Given the description of an element on the screen output the (x, y) to click on. 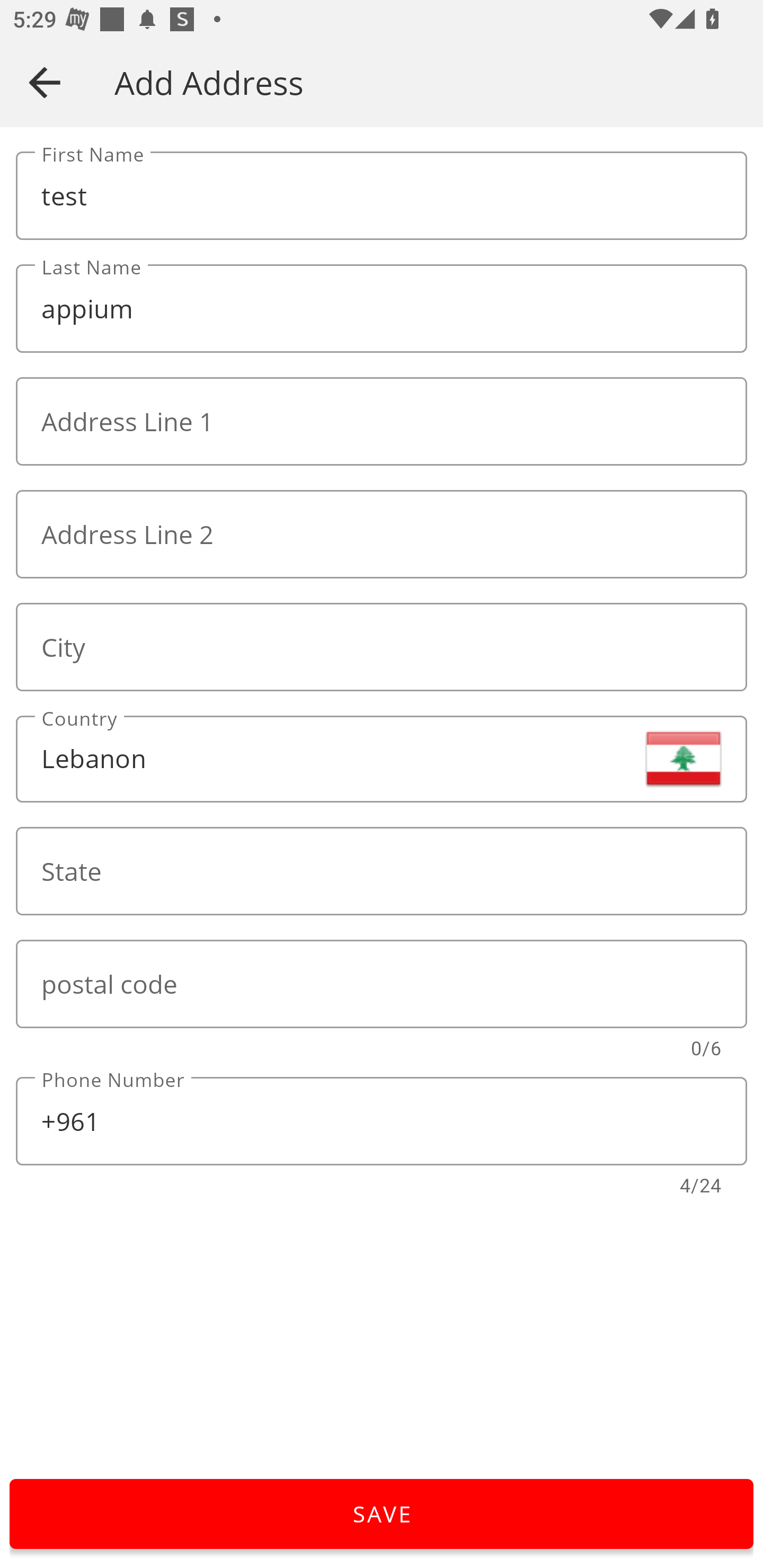
Navigate up (44, 82)
test (381, 195)
appium (381, 308)
Address Line 1 (381, 421)
Address Line 2 (381, 533)
City (381, 646)
Lebanon (381, 758)
State (381, 870)
postal code (381, 983)
+961 (381, 1121)
SAVE (381, 1513)
